Given the description of an element on the screen output the (x, y) to click on. 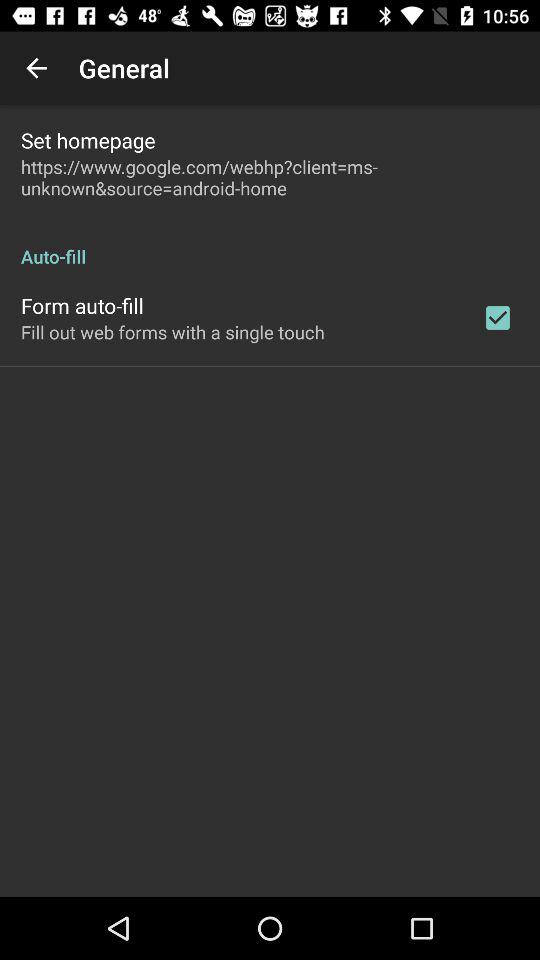
select the icon at the top right corner (497, 317)
